Given the description of an element on the screen output the (x, y) to click on. 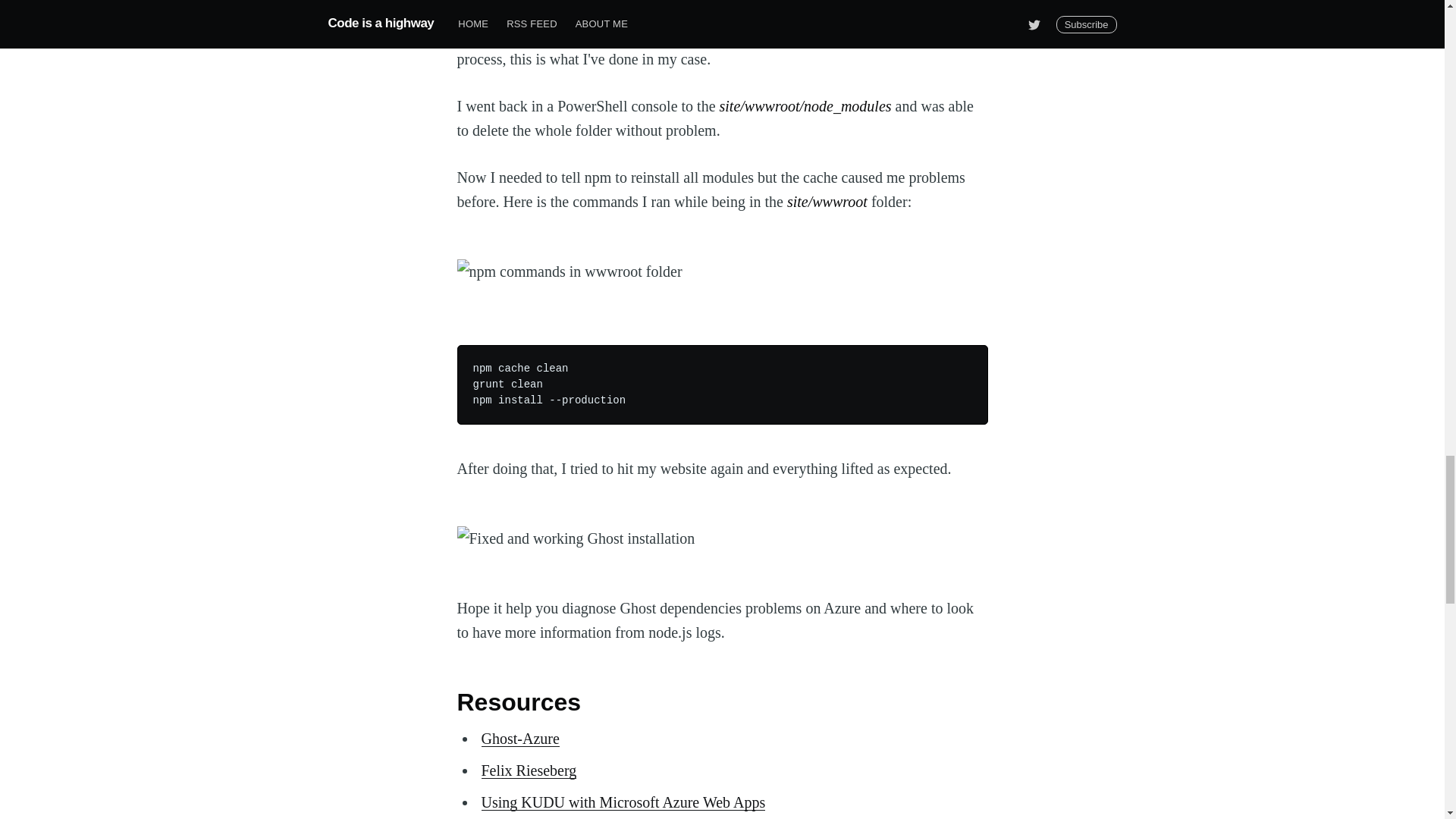
Using KUDU with Microsoft Azure Web Apps (622, 801)
Felix Rieseberg (528, 770)
Ghost-Azure (519, 738)
